Given the description of an element on the screen output the (x, y) to click on. 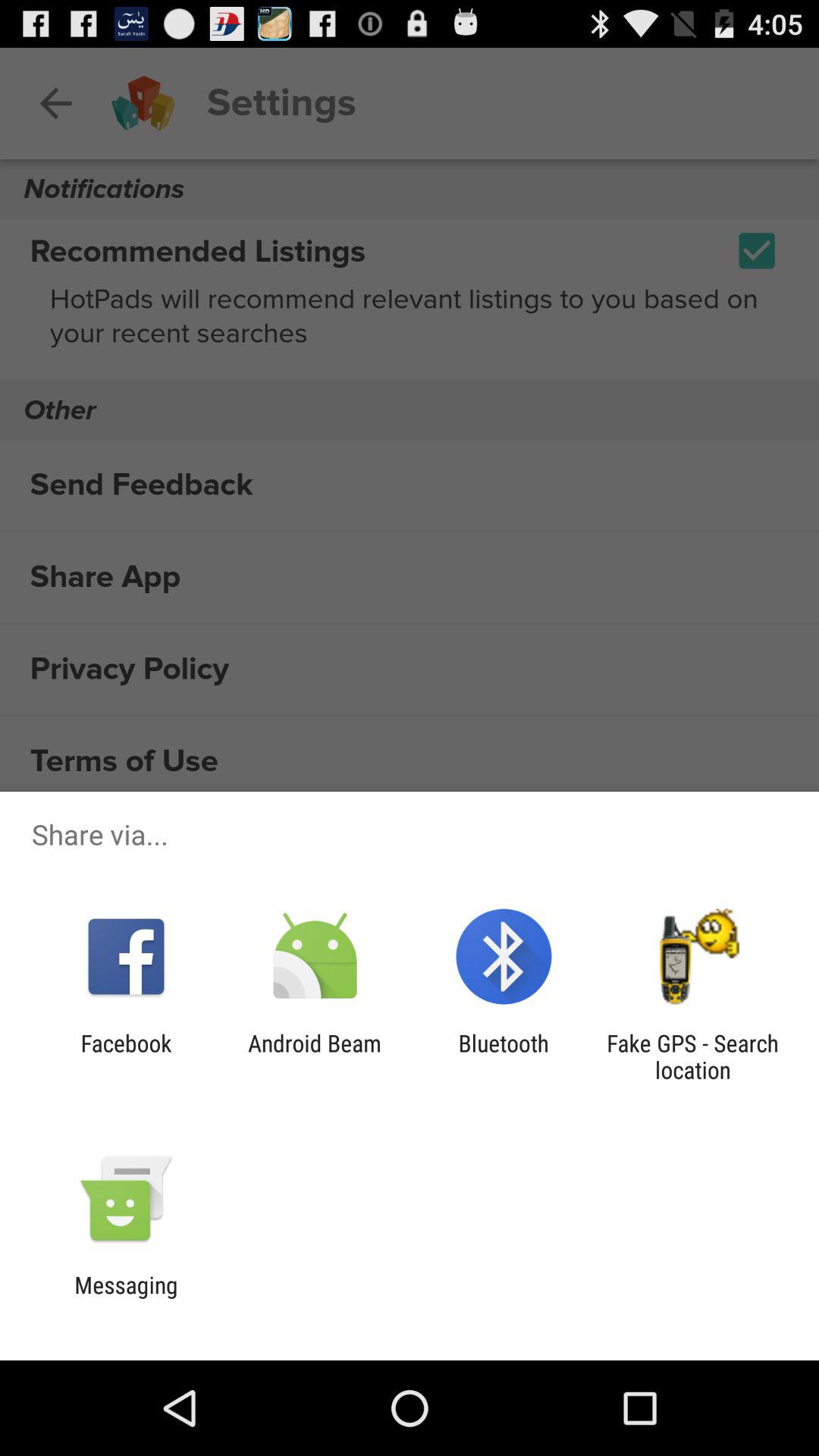
click the icon to the right of android beam (503, 1056)
